Given the description of an element on the screen output the (x, y) to click on. 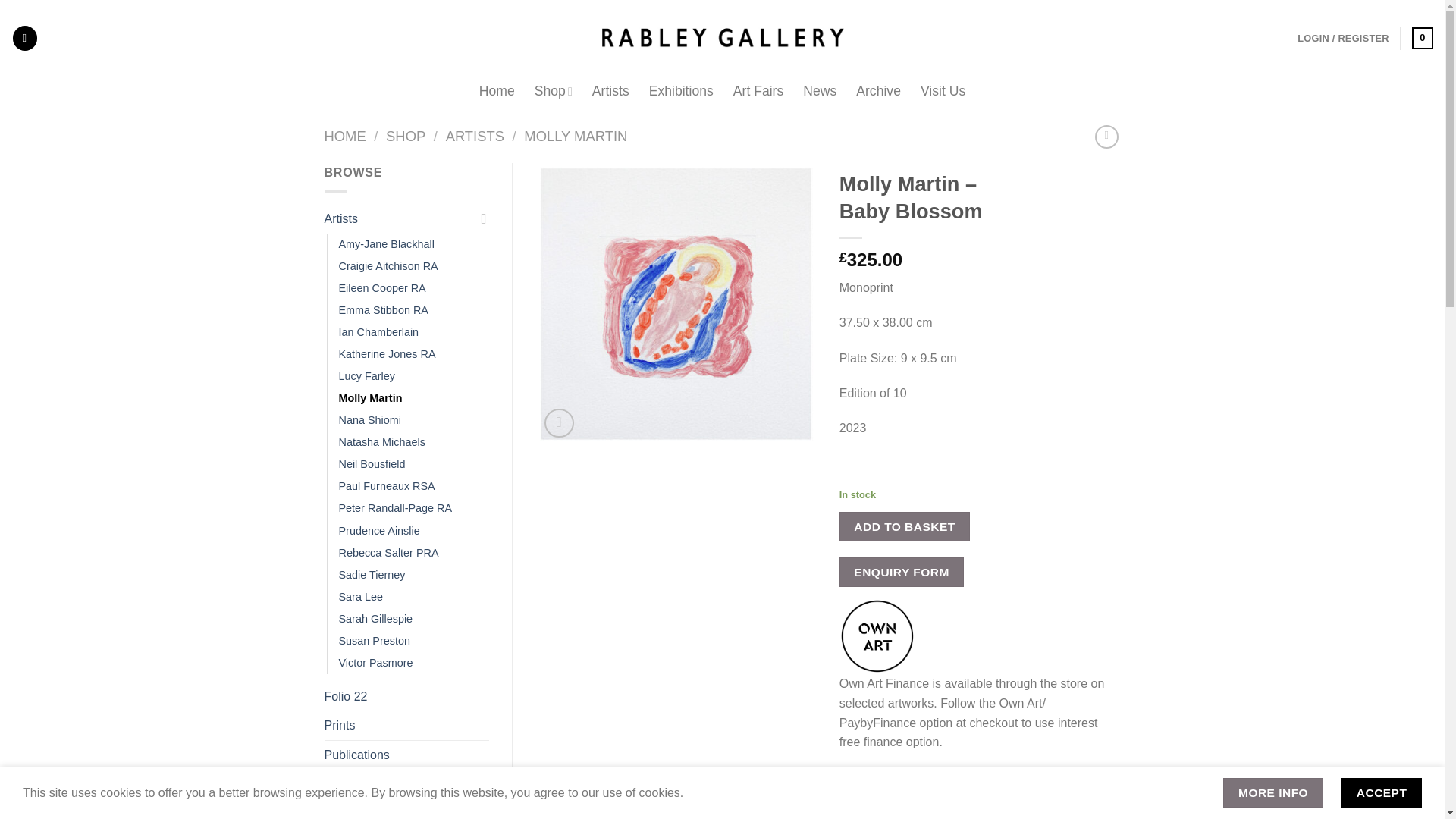
Zoom (558, 423)
Login (1343, 37)
Shop (553, 91)
Rabley Gallery (721, 37)
Home (497, 91)
